Given the description of an element on the screen output the (x, y) to click on. 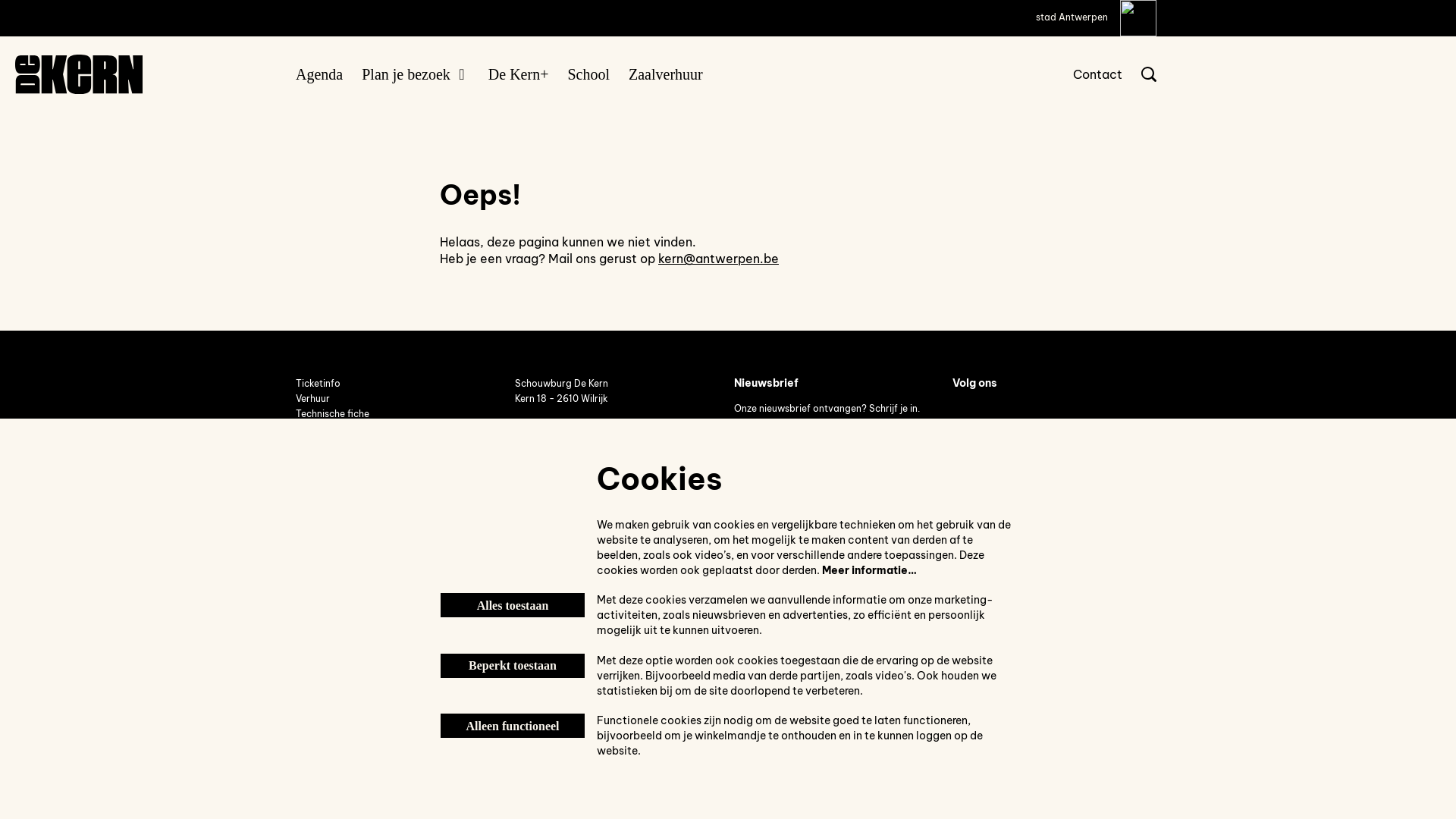
Alleen functioneel Element type: text (512, 725)
Toegankelijkheidsverklaring Element type: text (357, 474)
Technische fiche Element type: text (332, 413)
Ticketinfo Element type: text (317, 383)
Privacy policy Element type: text (327, 489)
Ga naar homepage Element type: hover (78, 74)
Alles toestaan Element type: text (512, 605)
Verhuur  Element type: text (313, 398)
Agenda Element type: text (318, 73)
Plan je bezoek Element type: text (415, 73)
Over De Kern Element type: text (324, 443)
Vrijwilligers & ambassadeurs Element type: text (359, 428)
Met dank aan Element type: text (326, 458)
School Element type: text (588, 73)
Schrijf je in. Element type: text (894, 408)
Zaalverhuur Element type: text (665, 73)
Contact Element type: text (1097, 73)
Beperkt toestaan Element type: text (512, 665)
kern@antwerpen.be Element type: text (718, 258)
kern@antwerpen.be Element type: text (559, 436)
De Kern+ Element type: text (518, 73)
